Given the description of an element on the screen output the (x, y) to click on. 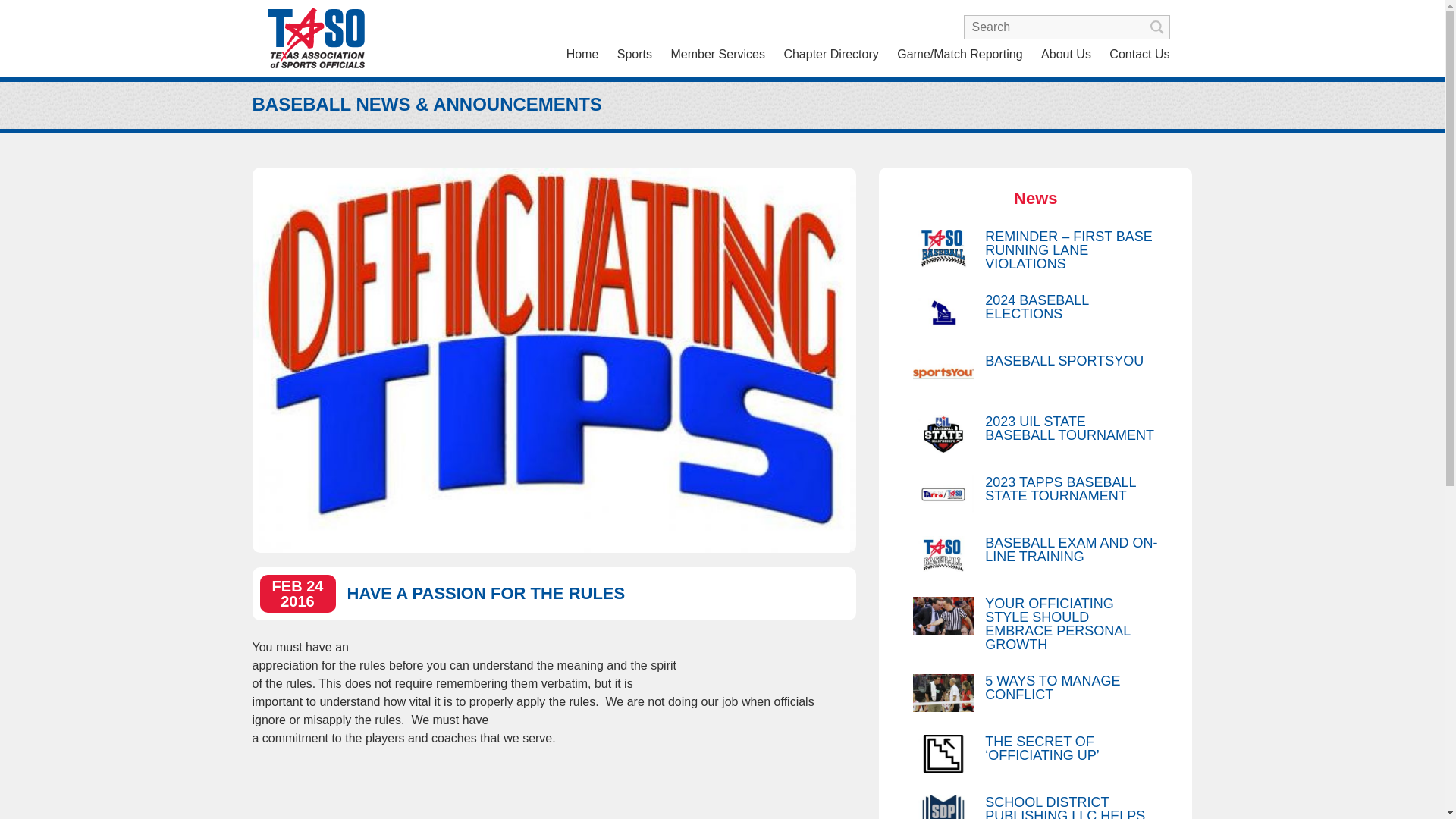
Sports (634, 54)
Chapter Directory (830, 54)
Home (583, 54)
About Us (1066, 54)
Member Services (716, 54)
